Given the description of an element on the screen output the (x, y) to click on. 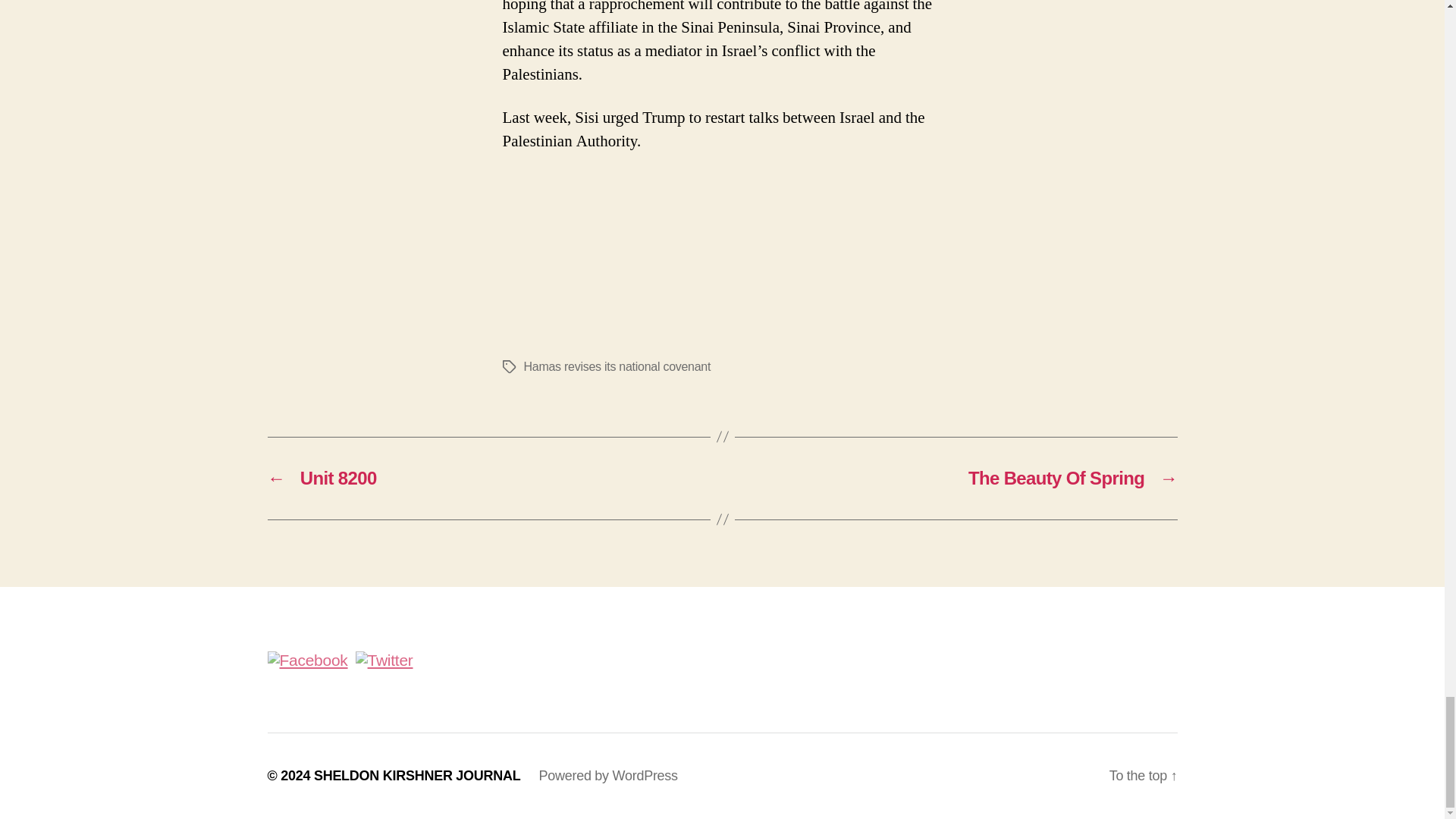
Powered by WordPress (607, 775)
 Facebook (306, 660)
SHELDON KIRSHNER JOURNAL (417, 775)
Page 1 (722, 228)
Hamas revises its national covenant (616, 366)
 Twitter (384, 660)
